Given the description of an element on the screen output the (x, y) to click on. 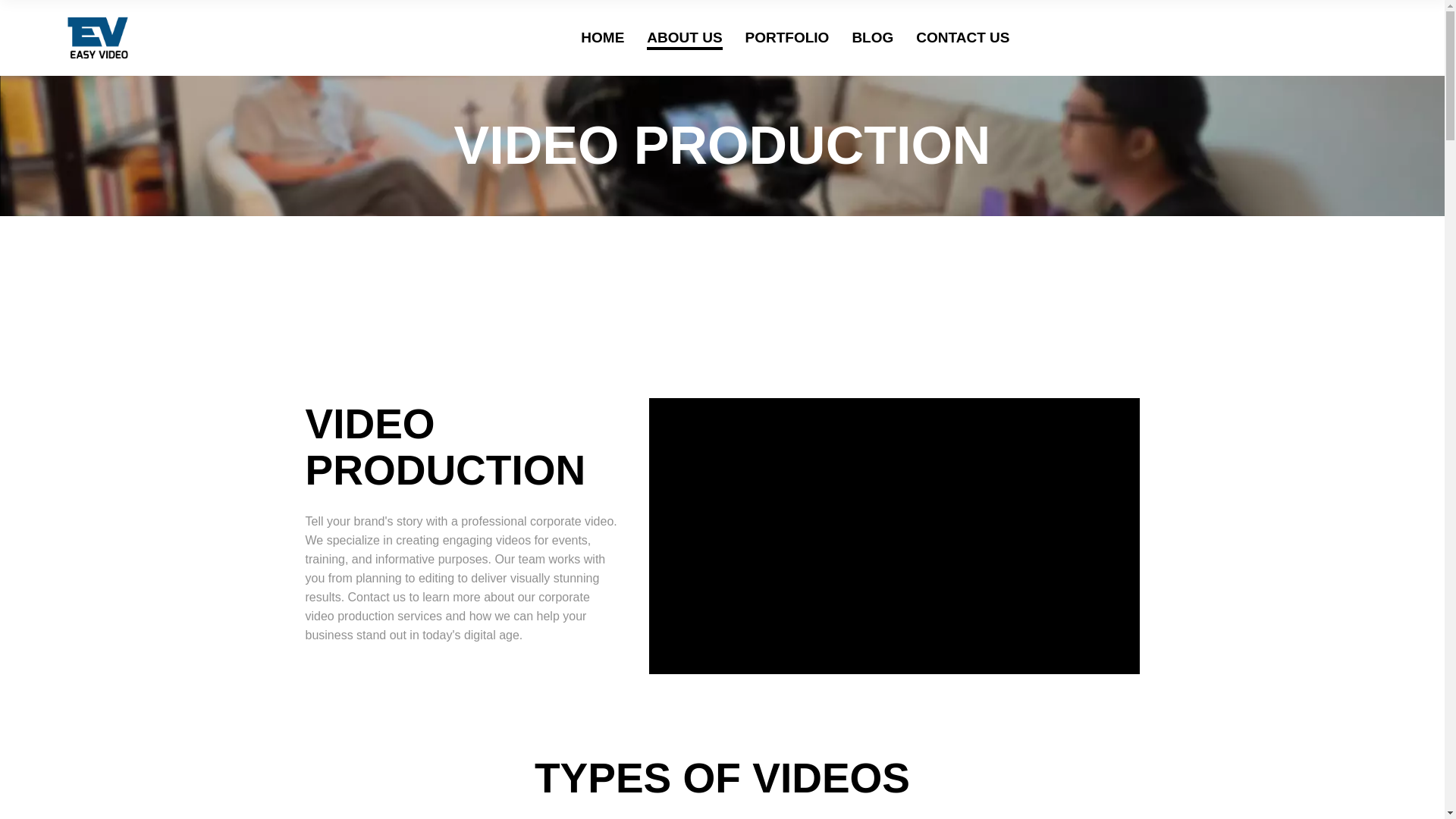
ABOUT US (684, 38)
PORTFOLIO (787, 38)
CONTACT US (962, 38)
